Given the description of an element on the screen output the (x, y) to click on. 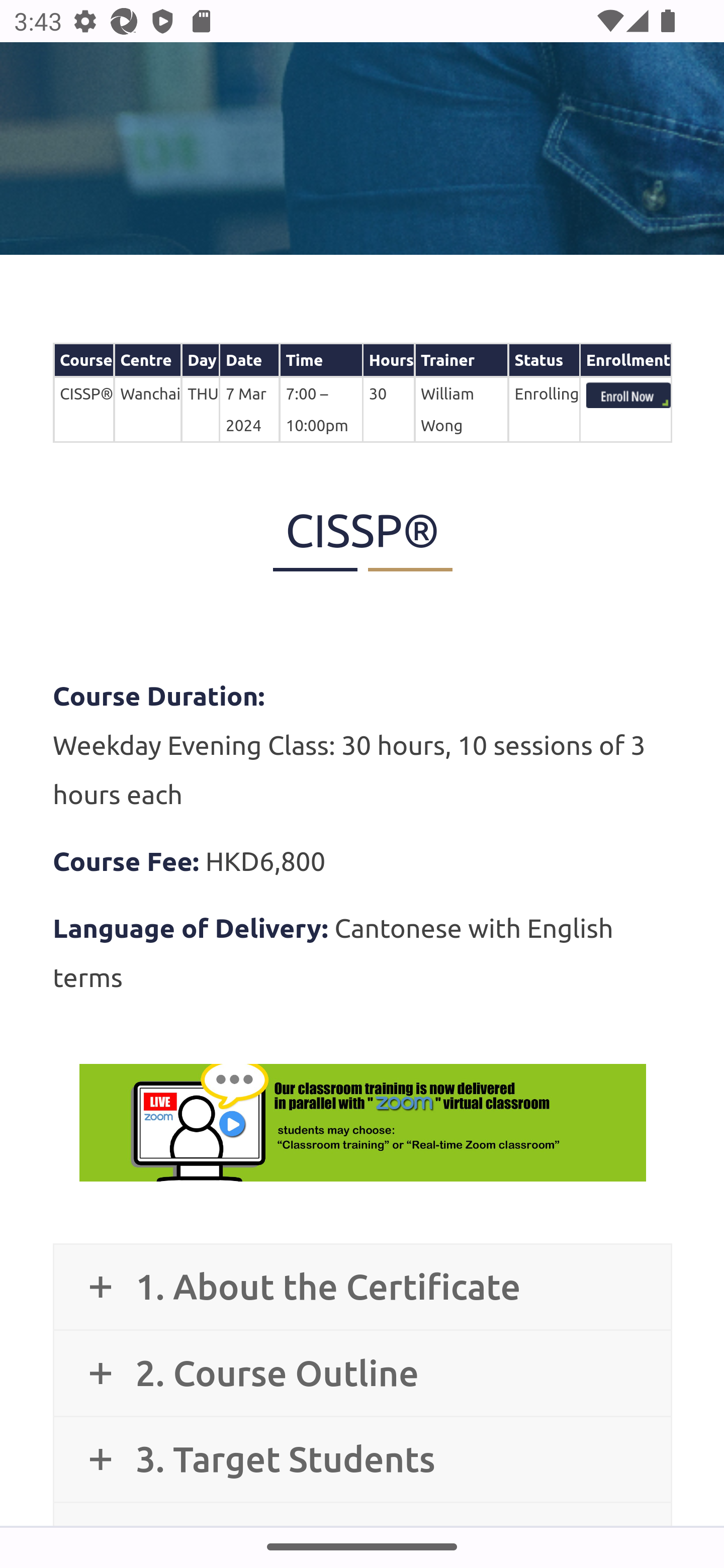
index (627, 397)
